Given the description of an element on the screen output the (x, y) to click on. 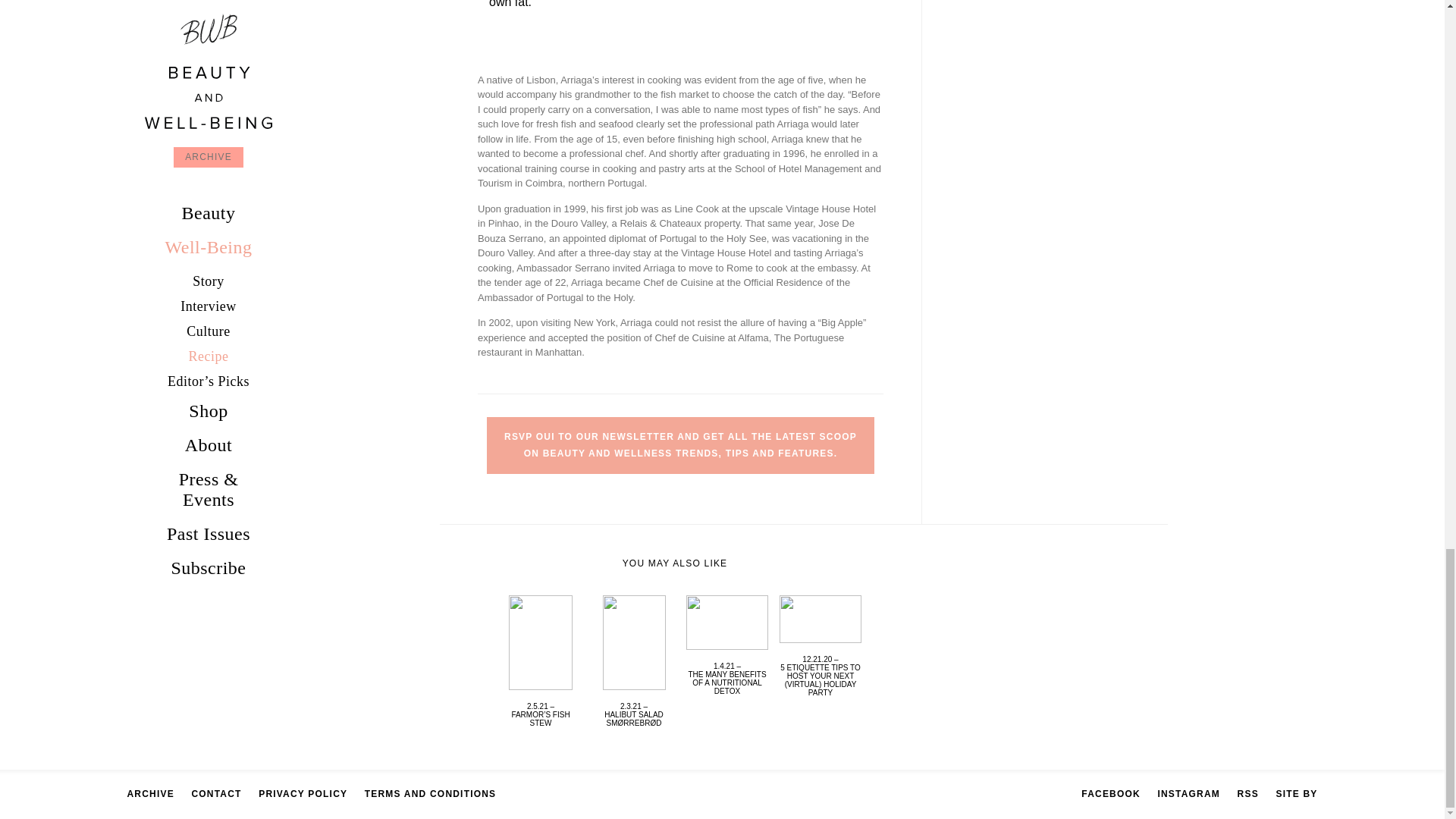
INSTAGRAM (1188, 793)
TERMS AND CONDITIONS (430, 793)
ARCHIVE (151, 793)
CONTACT (215, 793)
PRIVACY POLICY (303, 793)
subscribe (680, 445)
FACEBOOK (1110, 793)
